Given the description of an element on the screen output the (x, y) to click on. 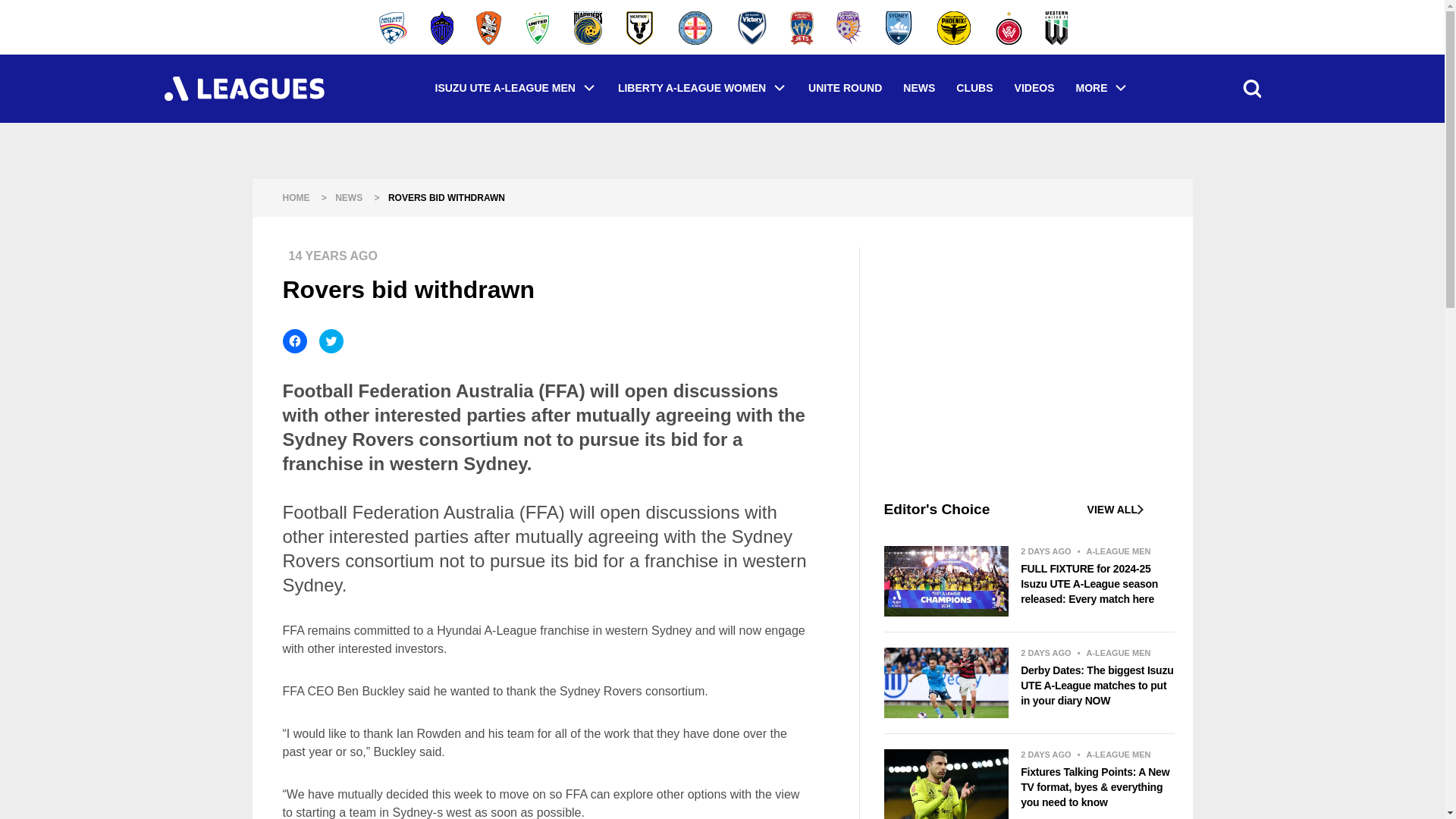
Click to share on Twitter (330, 340)
LIBERTY A-LEAGUE WOMEN (702, 87)
Click to share on Facebook (293, 340)
ISUZU UTE A-LEAGUE MEN (516, 87)
